Given the description of an element on the screen output the (x, y) to click on. 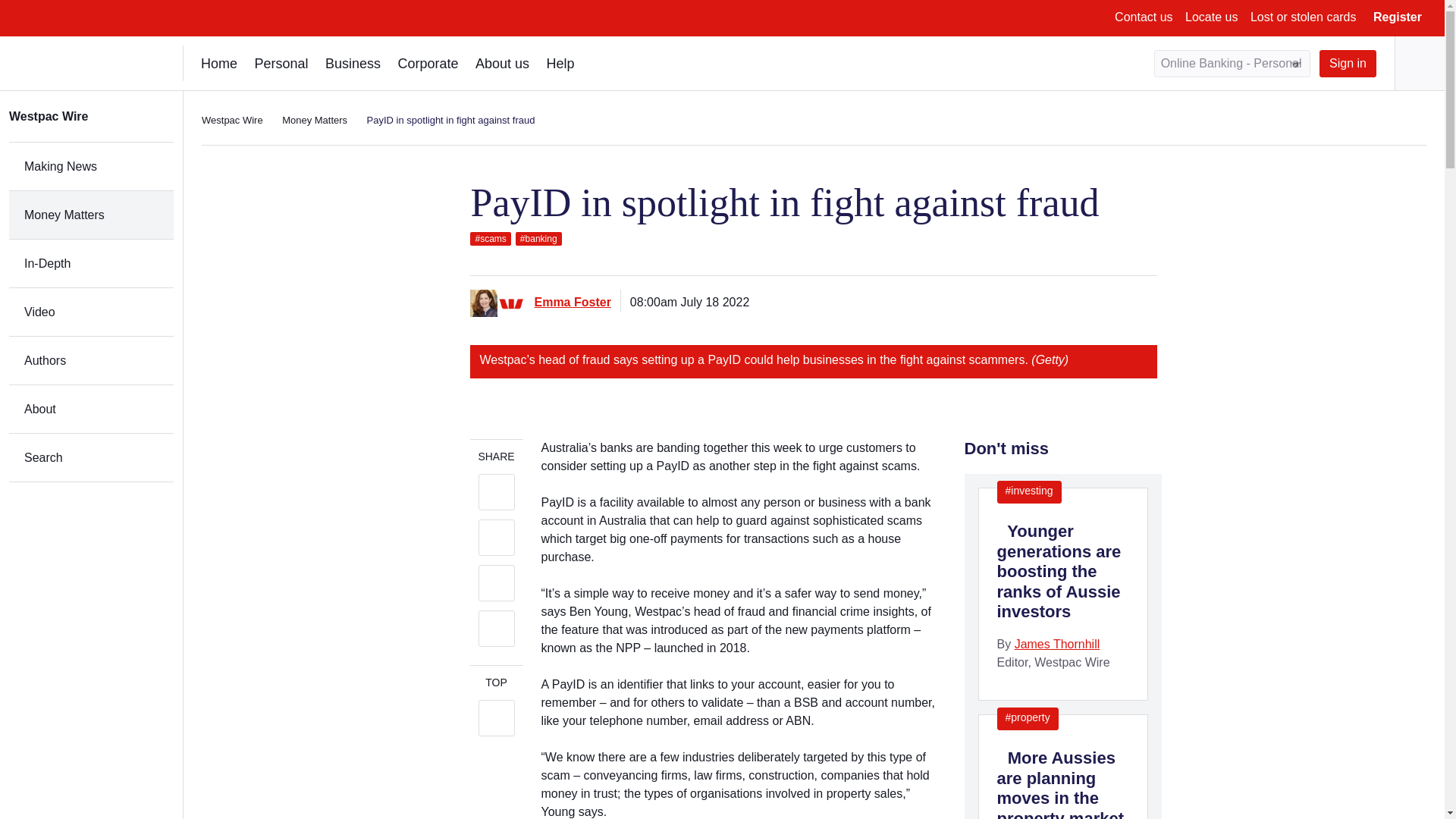
Lost or stolen cards (1303, 16)
Register (1397, 17)
Locate us (1211, 16)
Sign in (1347, 62)
Contact us (1143, 16)
